Given the description of an element on the screen output the (x, y) to click on. 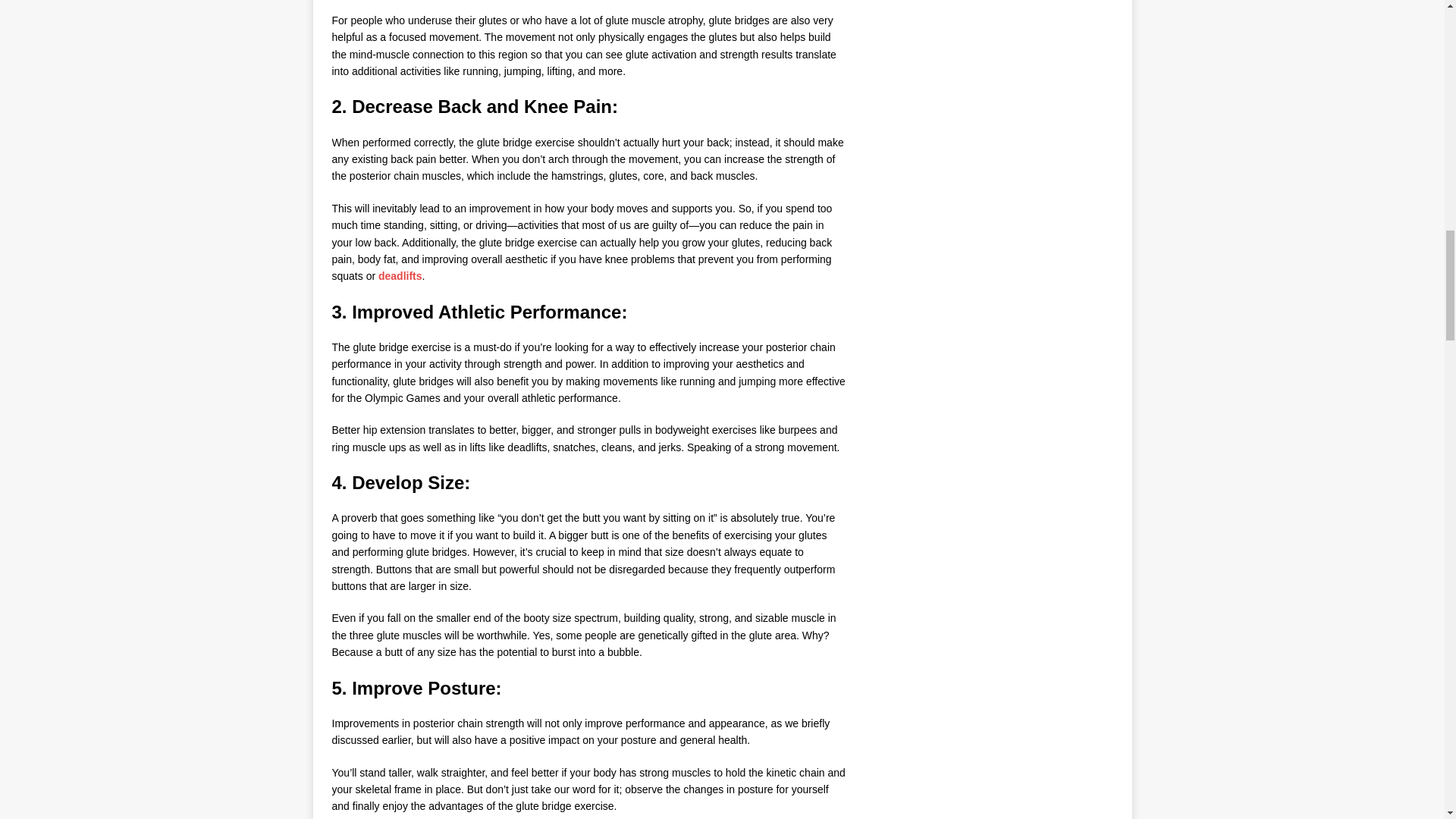
deadlifts (400, 275)
